Given the description of an element on the screen output the (x, y) to click on. 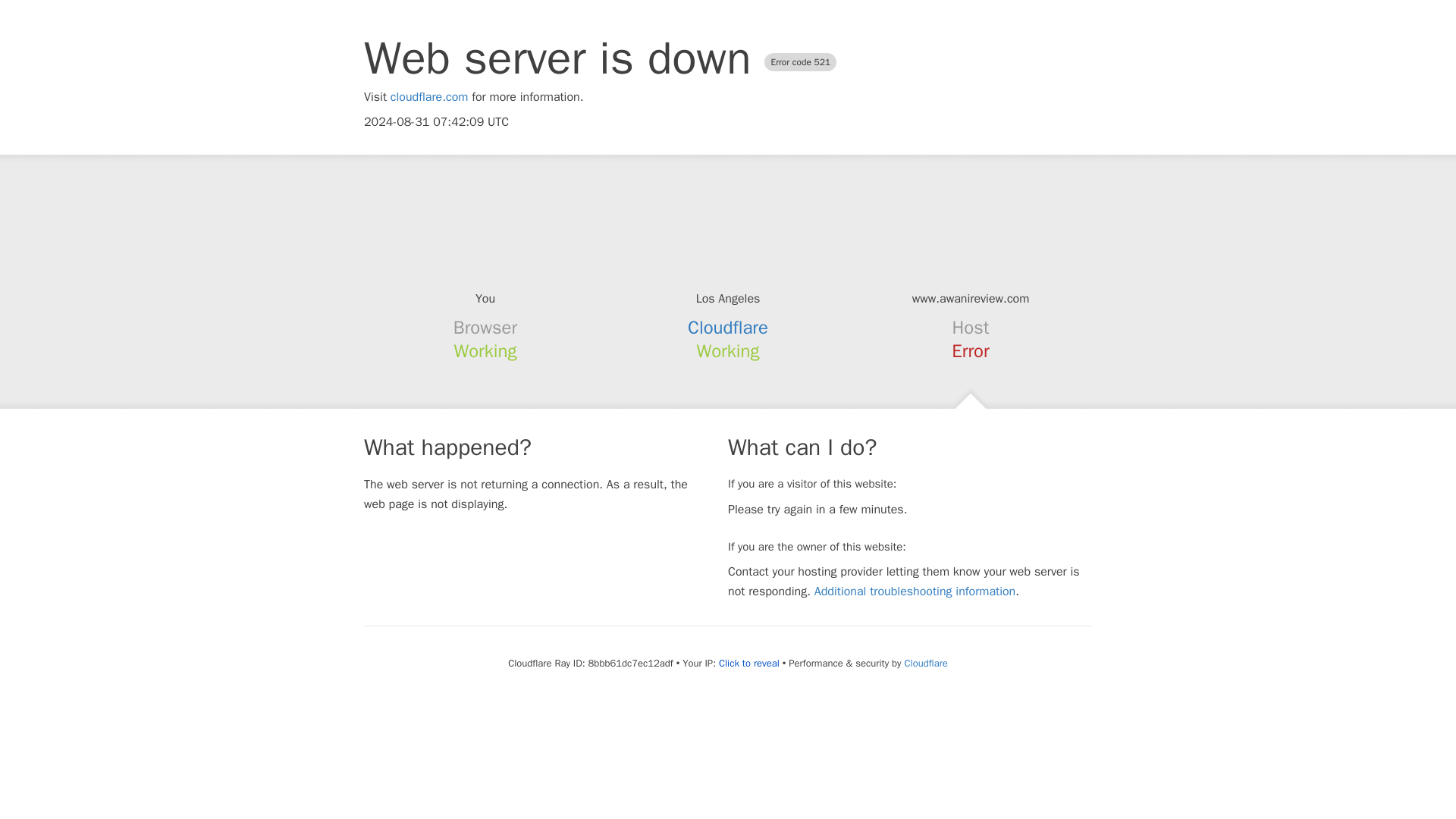
cloudflare.com (429, 96)
Additional troubleshooting information (913, 590)
Cloudflare (727, 327)
Click to reveal (748, 663)
Cloudflare (925, 662)
